Given the description of an element on the screen output the (x, y) to click on. 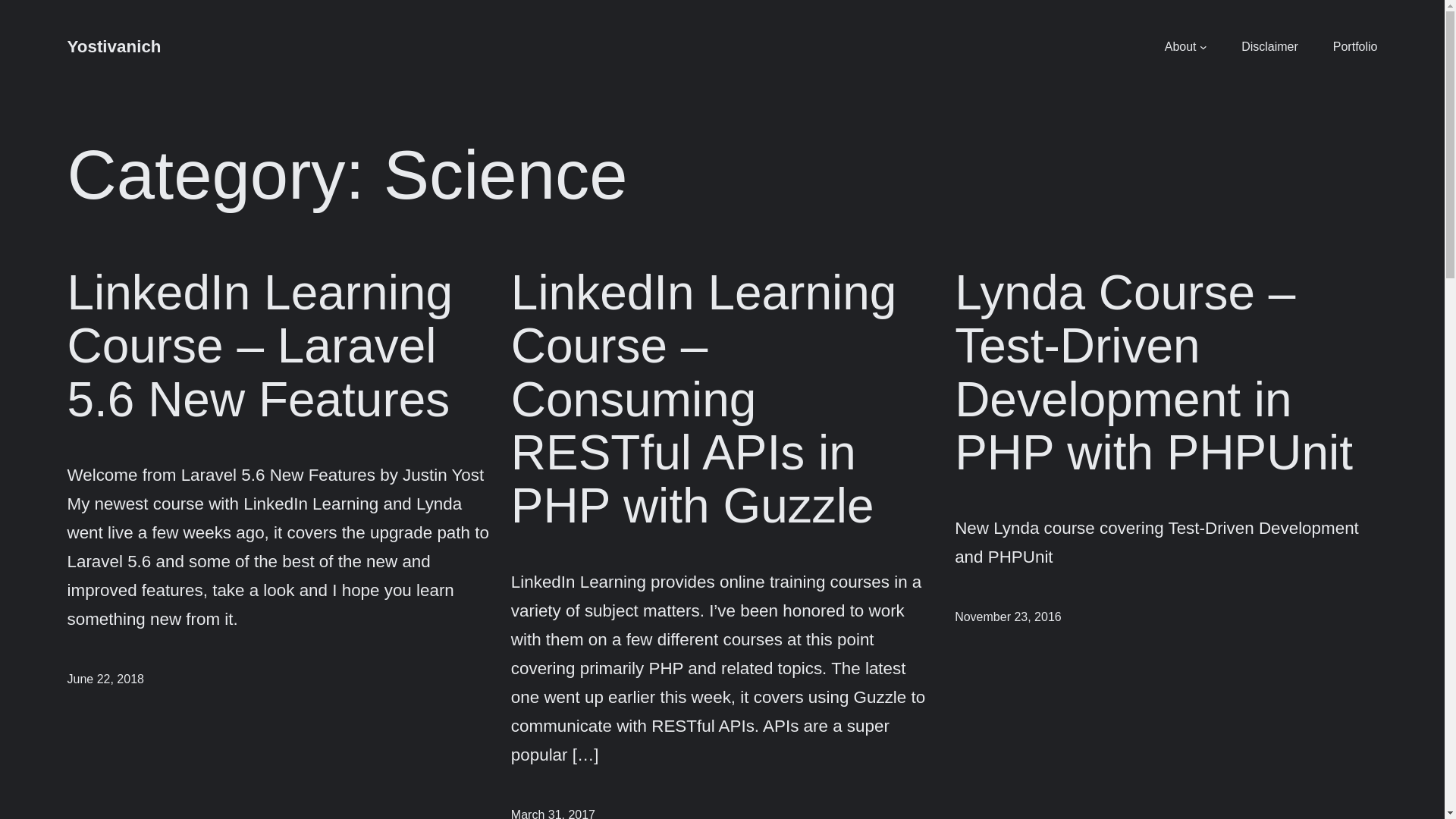
About (1180, 46)
June 22, 2018 (104, 678)
Disclaimer (1269, 46)
November 23, 2016 (1008, 616)
Portfolio (1355, 46)
Yostivanich (113, 46)
March 31, 2017 (553, 813)
